Given the description of an element on the screen output the (x, y) to click on. 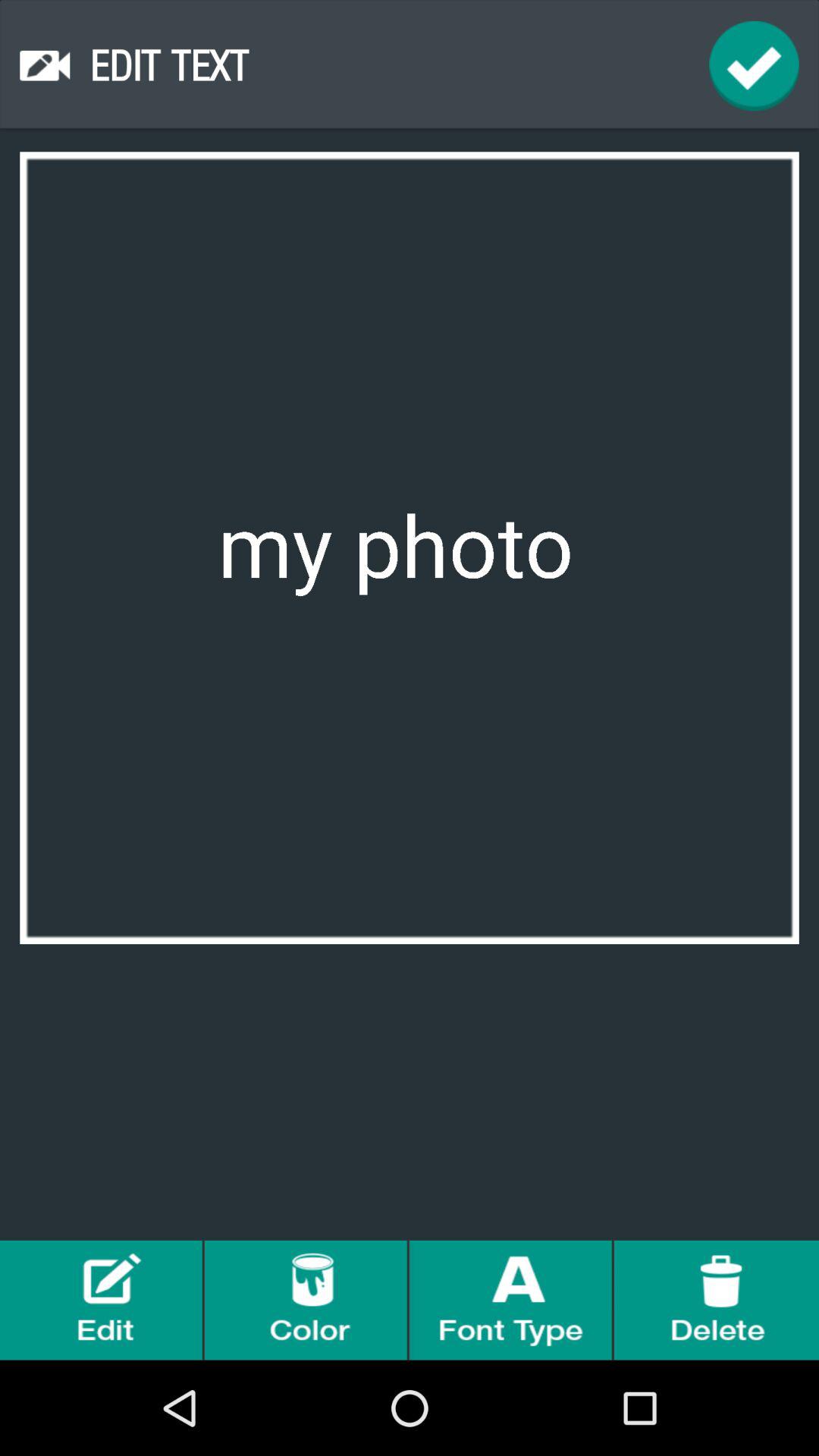
delete option (716, 1299)
